Given the description of an element on the screen output the (x, y) to click on. 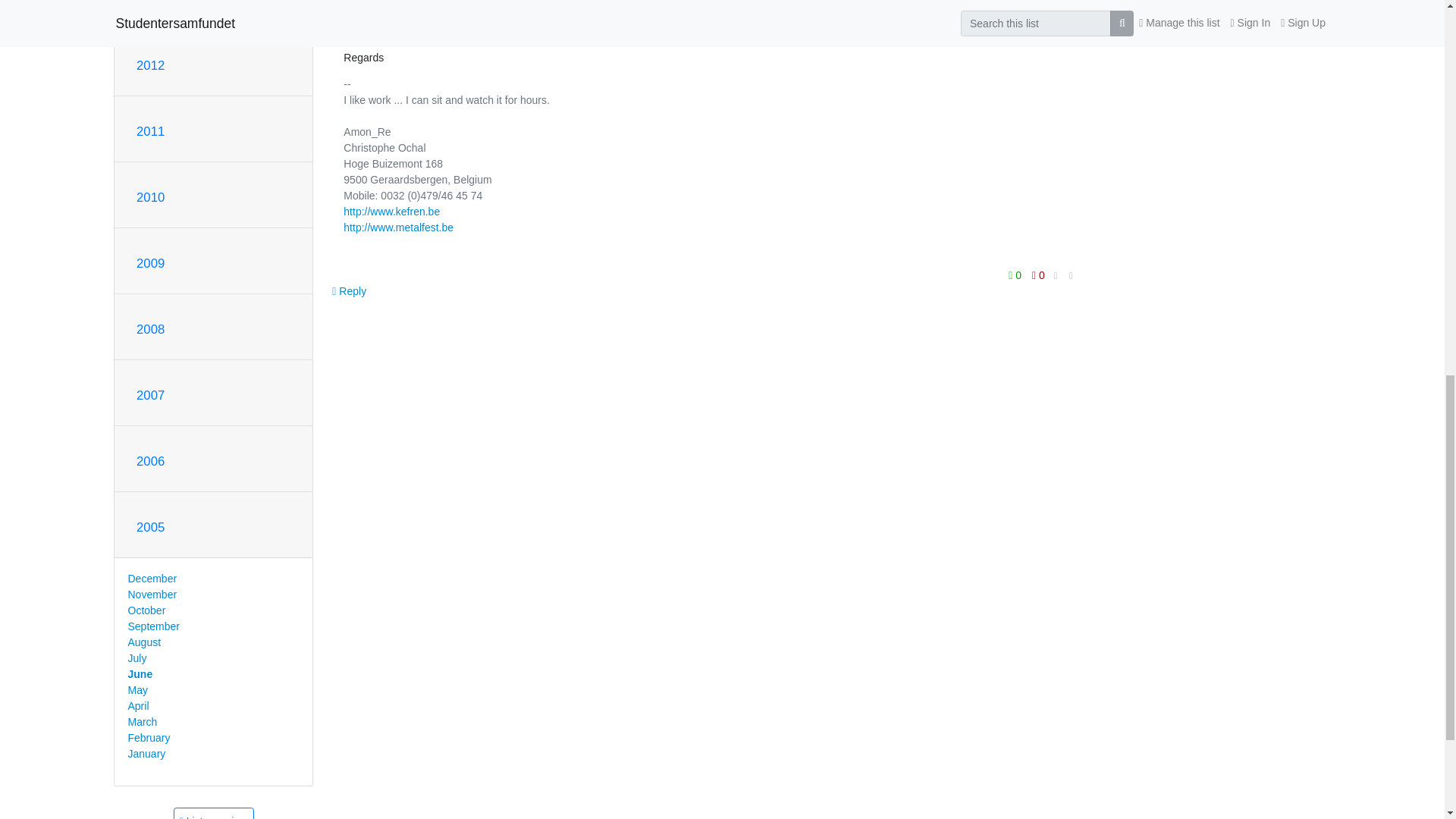
You must be logged-in to vote. (1015, 275)
Sign in to reply online (349, 290)
You must be logged-in to vote. (1037, 275)
